Given the description of an element on the screen output the (x, y) to click on. 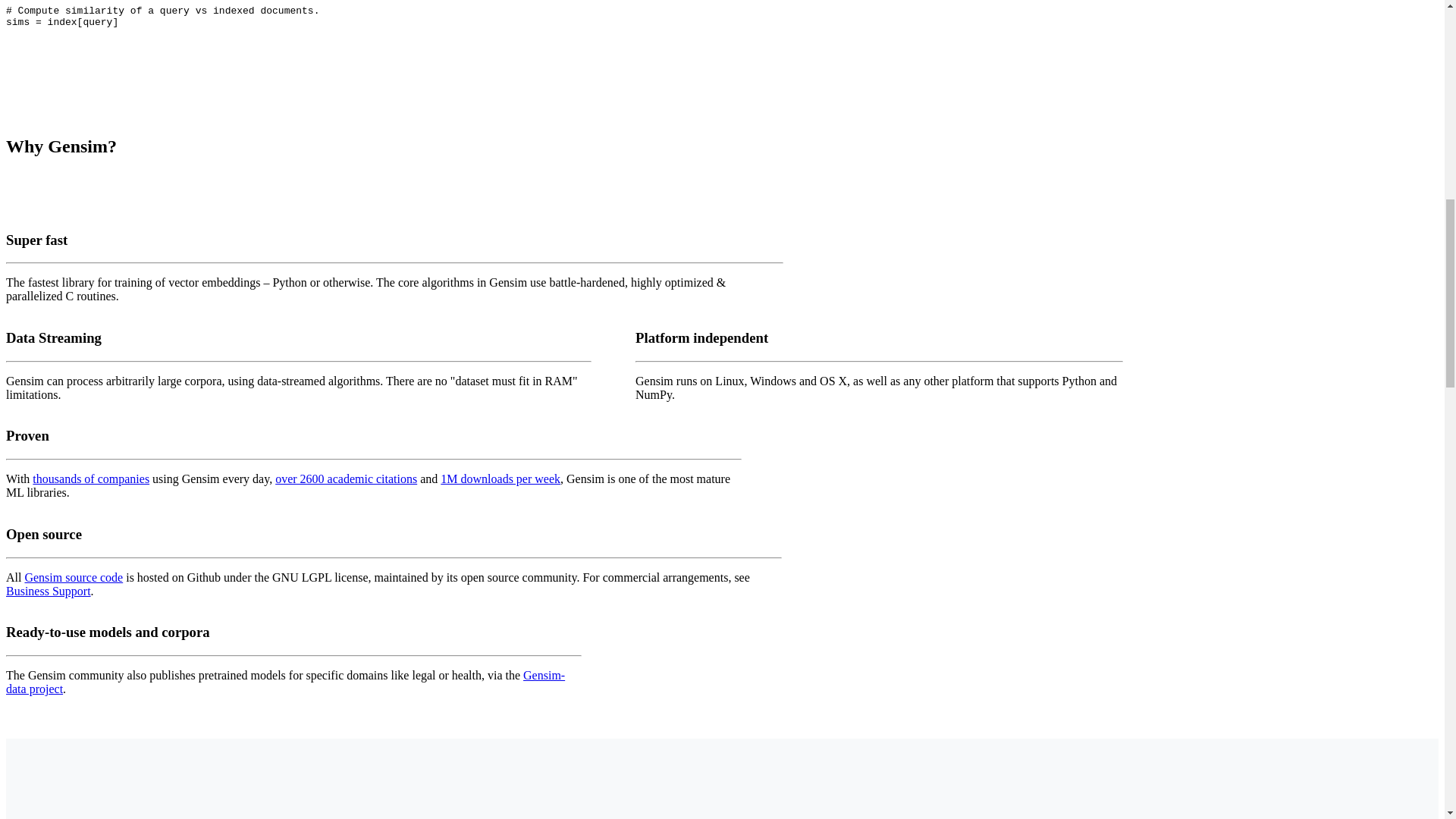
over 2600 academic citations (345, 478)
Business Support (47, 590)
thousands of companies (90, 478)
1M downloads per week (500, 478)
Gensim-data project (284, 682)
Gensim source code (73, 576)
